Given the description of an element on the screen output the (x, y) to click on. 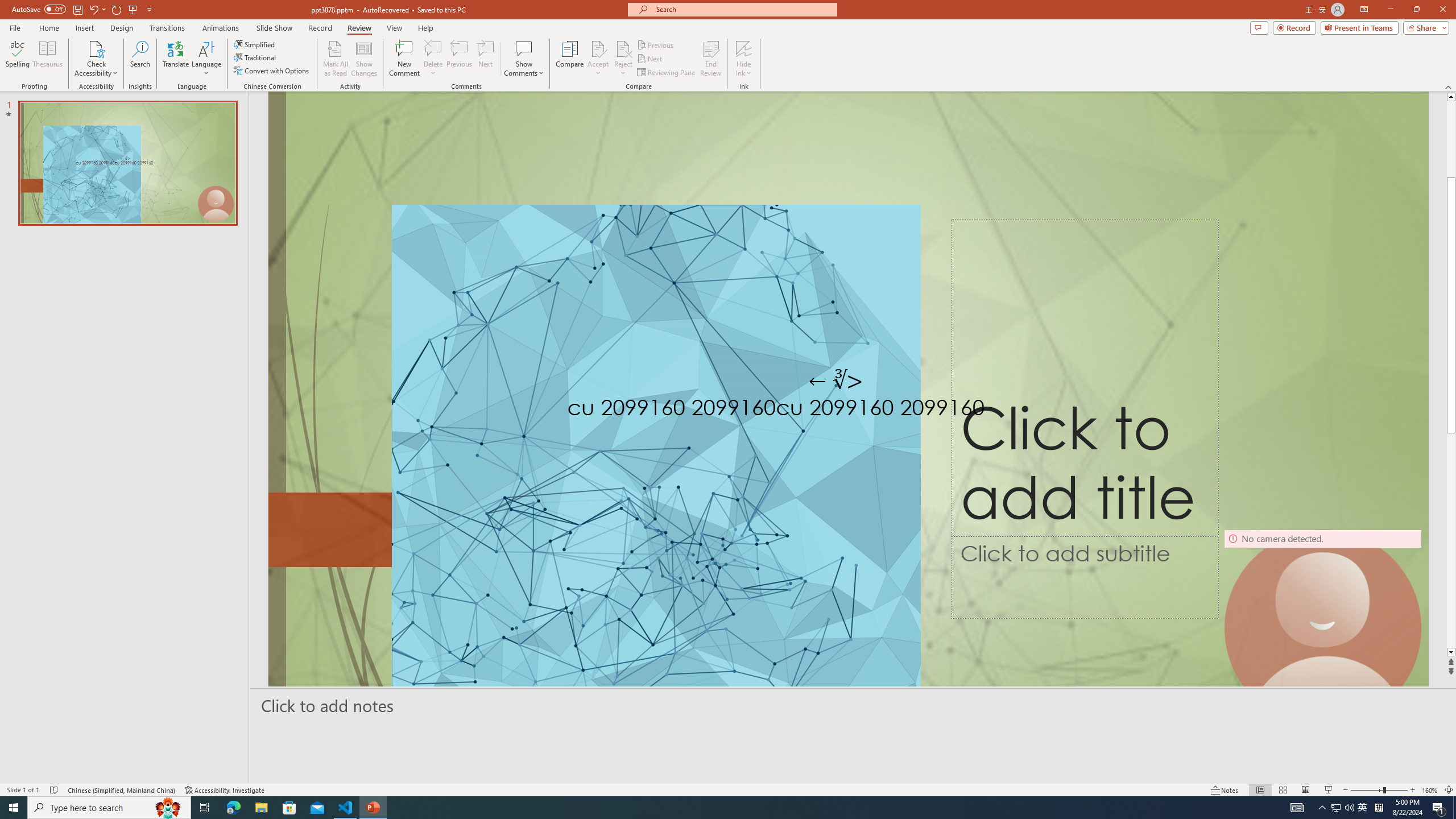
Check Accessibility (95, 58)
Show Changes (363, 58)
Reject Change (622, 48)
Translate (175, 58)
Transitions (167, 28)
Title TextBox (1085, 377)
Show Comments (524, 48)
